Given the description of an element on the screen output the (x, y) to click on. 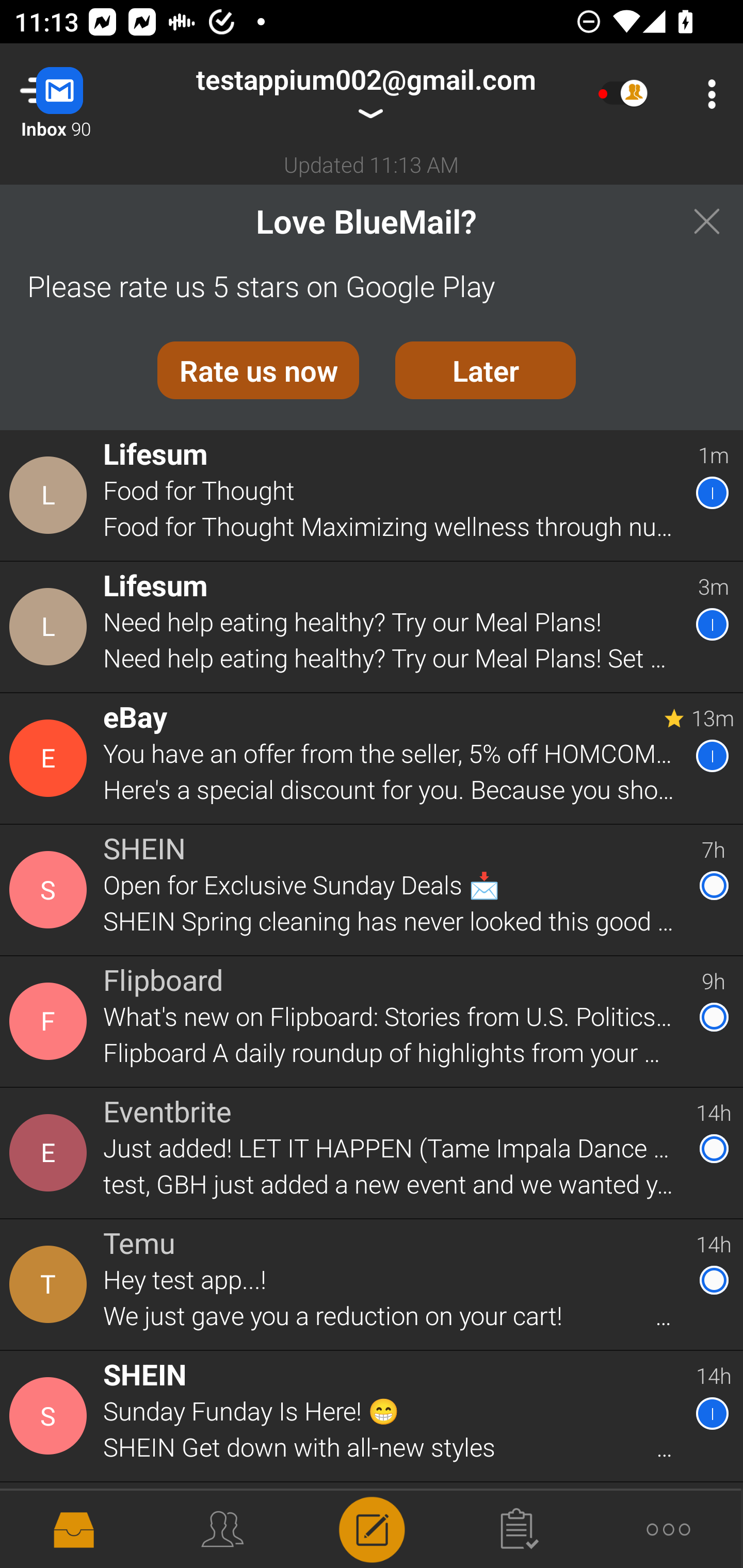
Navigate up (81, 93)
testappium002@gmail.com (365, 93)
More Options (706, 93)
Updated 11:13 AM (371, 164)
Rate us now (257, 370)
Later (485, 370)
Contact Details (50, 495)
Contact Details (50, 626)
Contact Details (50, 758)
Contact Details (50, 889)
Contact Details (50, 1021)
Contact Details (50, 1153)
Contact Details (50, 1284)
Contact Details (50, 1416)
Contact Details (50, 1524)
Compose (371, 1528)
